Given the description of an element on the screen output the (x, y) to click on. 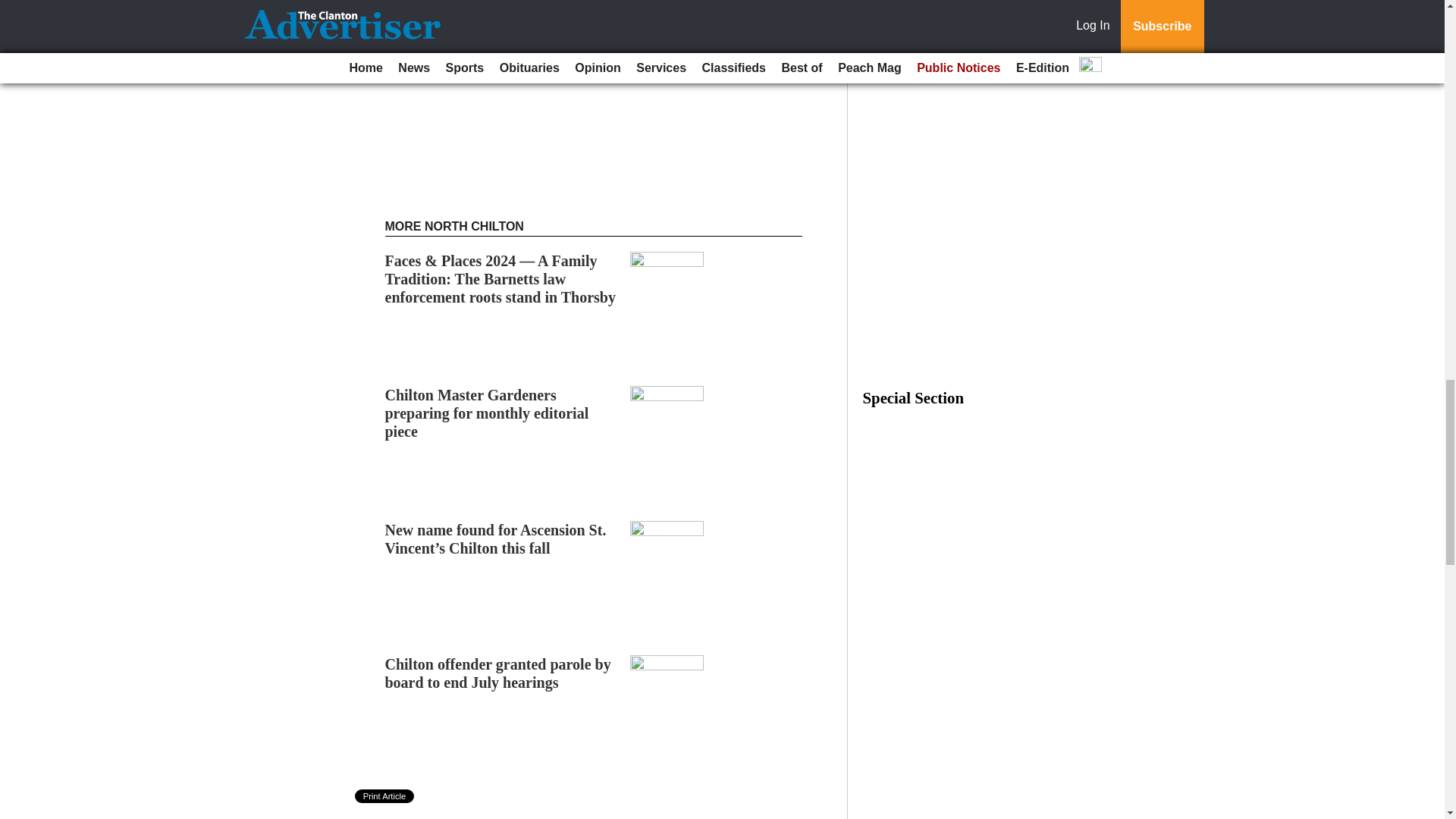
Print Article (384, 796)
